Given the description of an element on the screen output the (x, y) to click on. 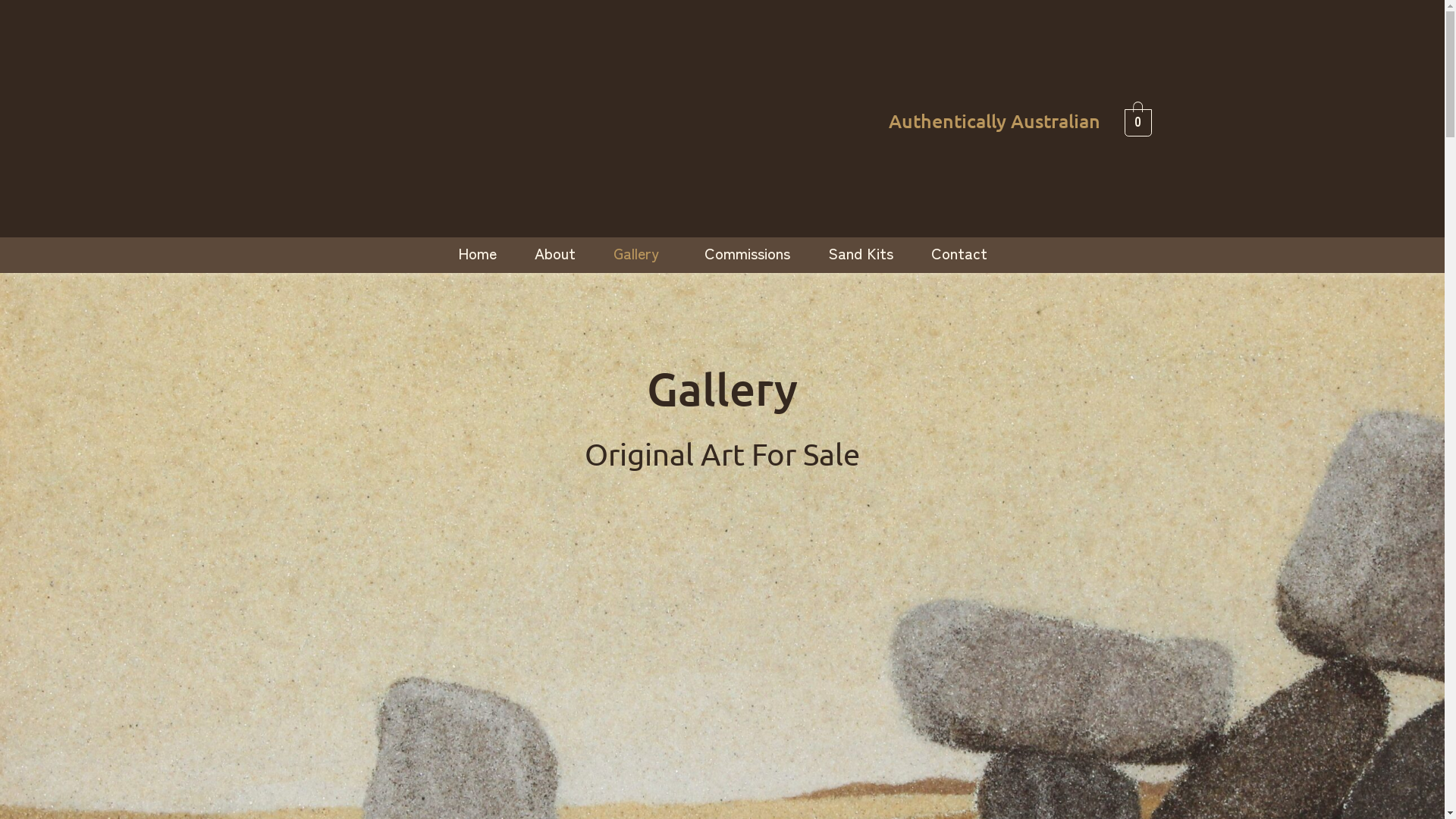
Commissions Element type: text (747, 253)
0 Element type: text (1137, 120)
Contact Element type: text (958, 253)
Home Element type: text (476, 253)
Sand Kits Element type: text (859, 253)
About Element type: text (554, 253)
Gallery Element type: text (639, 253)
